Given the description of an element on the screen output the (x, y) to click on. 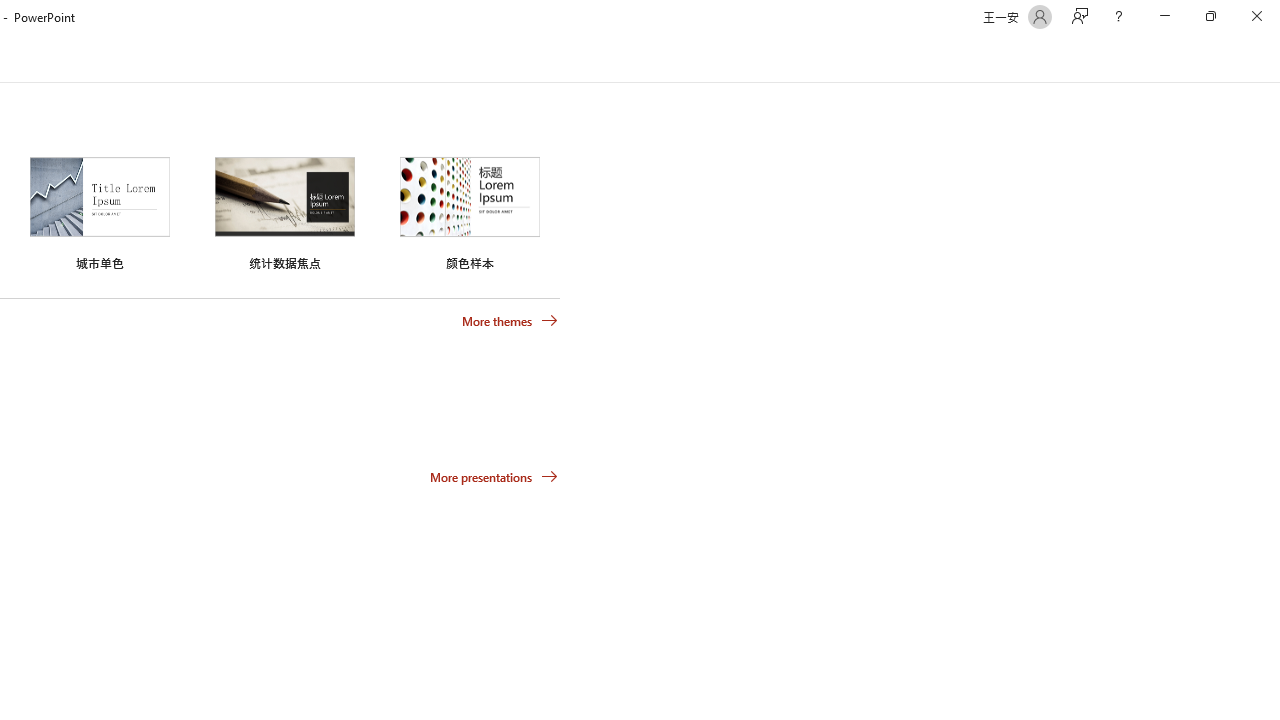
More themes (509, 321)
More presentations (493, 476)
Class: NetUIScrollBar (1271, 59)
